Given the description of an element on the screen output the (x, y) to click on. 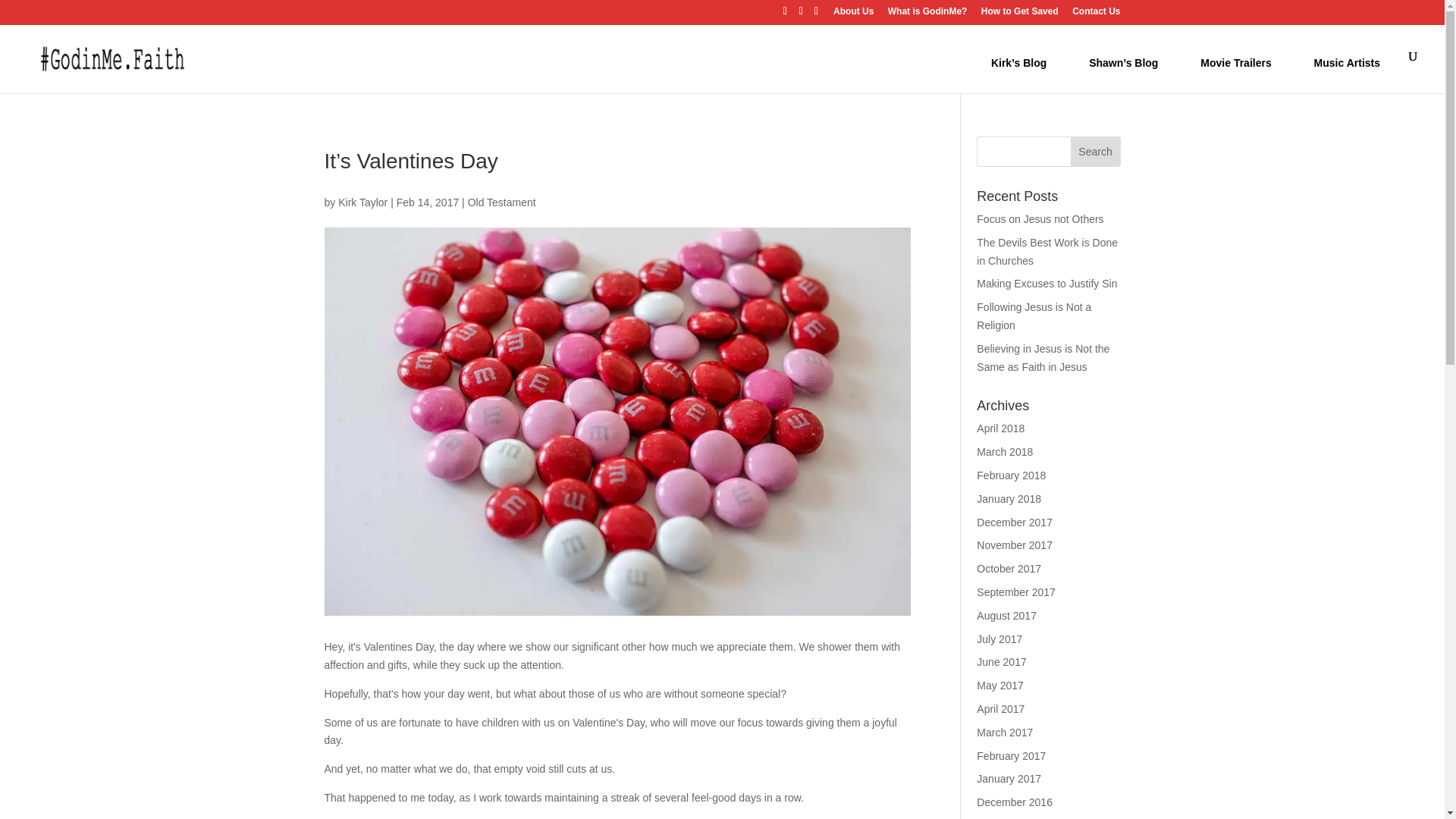
How to Get Saved (1019, 14)
About Us (852, 14)
Old Testament (501, 201)
Following Jesus is Not a Religion (1033, 316)
Posts by Kirk Taylor (362, 201)
Movie Trailers (1235, 71)
Music Artists (1347, 71)
Focus on Jesus not Others (1039, 218)
Search (1095, 151)
The Devils Best Work is Done in Churches (1047, 251)
Believing in Jesus is Not the Same as Faith in Jesus (1042, 358)
Contact Us (1095, 14)
Search (1095, 151)
April 2018 (1000, 428)
Making Excuses to Justify Sin (1046, 283)
